Given the description of an element on the screen output the (x, y) to click on. 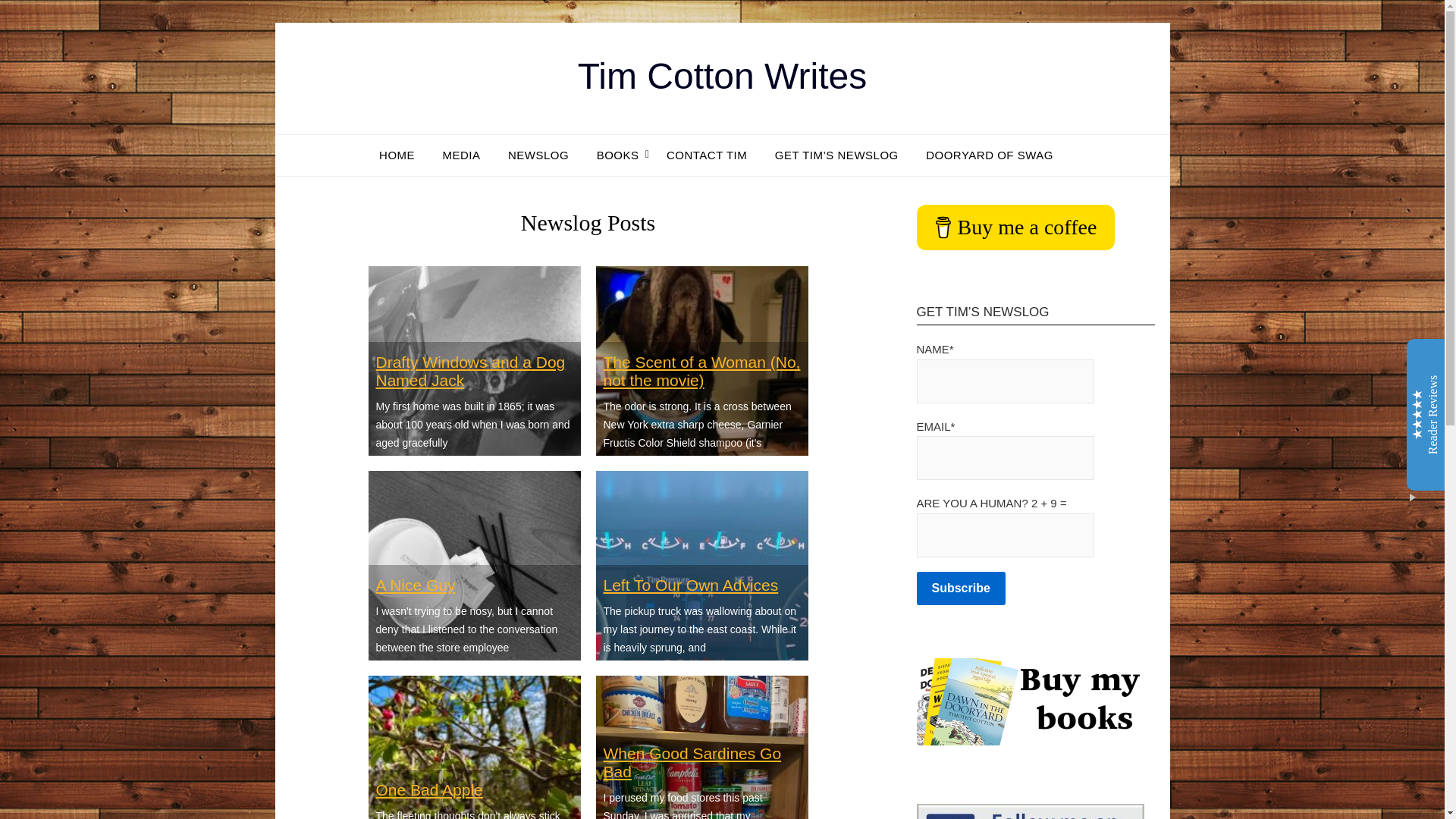
DOORYARD OF SWAG (989, 155)
Subscribe (959, 588)
CONTACT TIM (705, 155)
BOOKS (617, 155)
Left To Our Own Advices (691, 584)
Drafty Windows and a Dog Named Jack (470, 370)
MEDIA (461, 155)
One Bad Apple (429, 789)
NEWSLOG (538, 155)
When Good Sardines Go Bad (692, 762)
A Nice Guy (415, 584)
HOME (402, 155)
Tim Cotton Writes (722, 76)
